Given the description of an element on the screen output the (x, y) to click on. 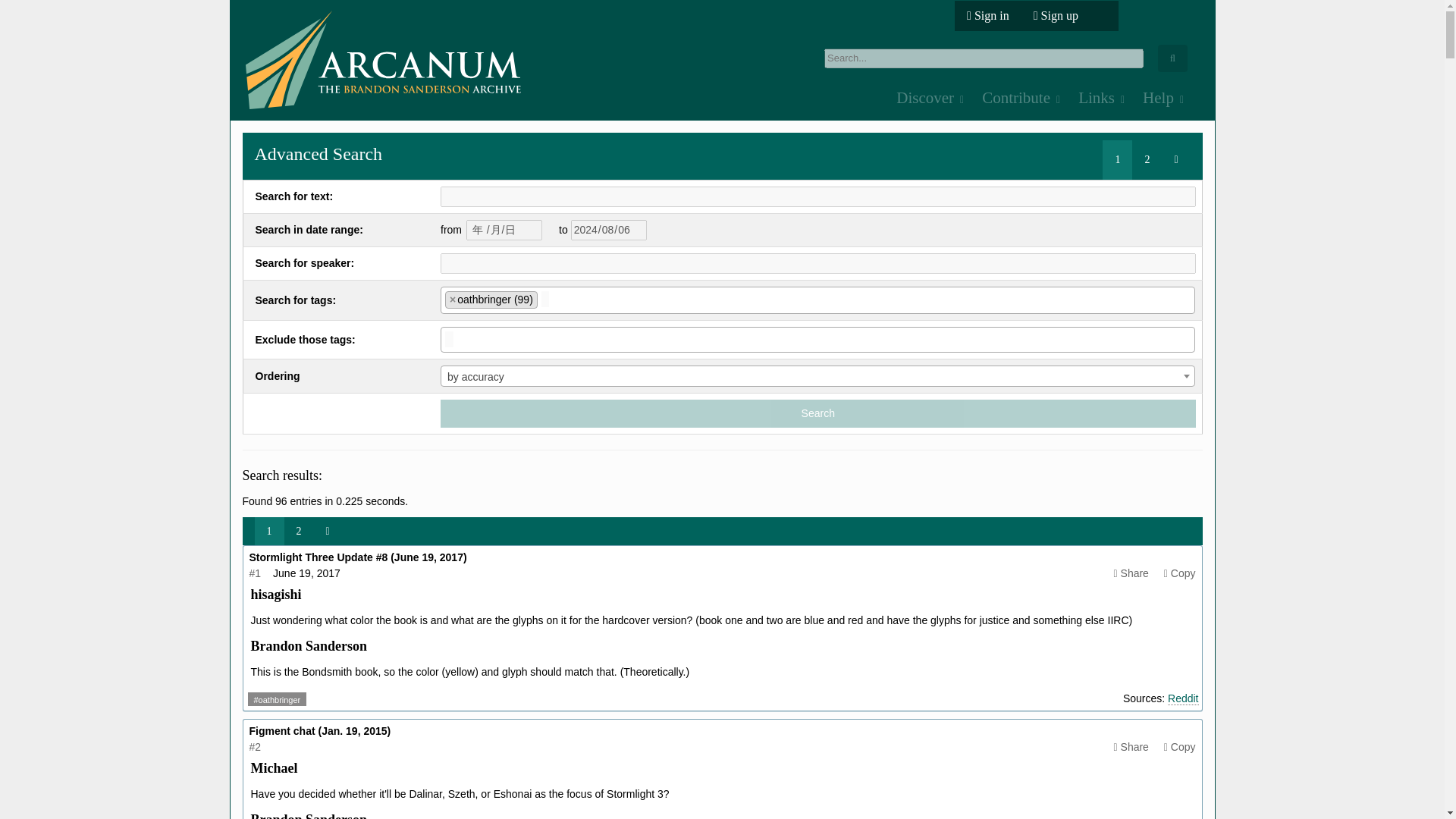
Discover (926, 98)
2024-08-06 (608, 230)
